Given the description of an element on the screen output the (x, y) to click on. 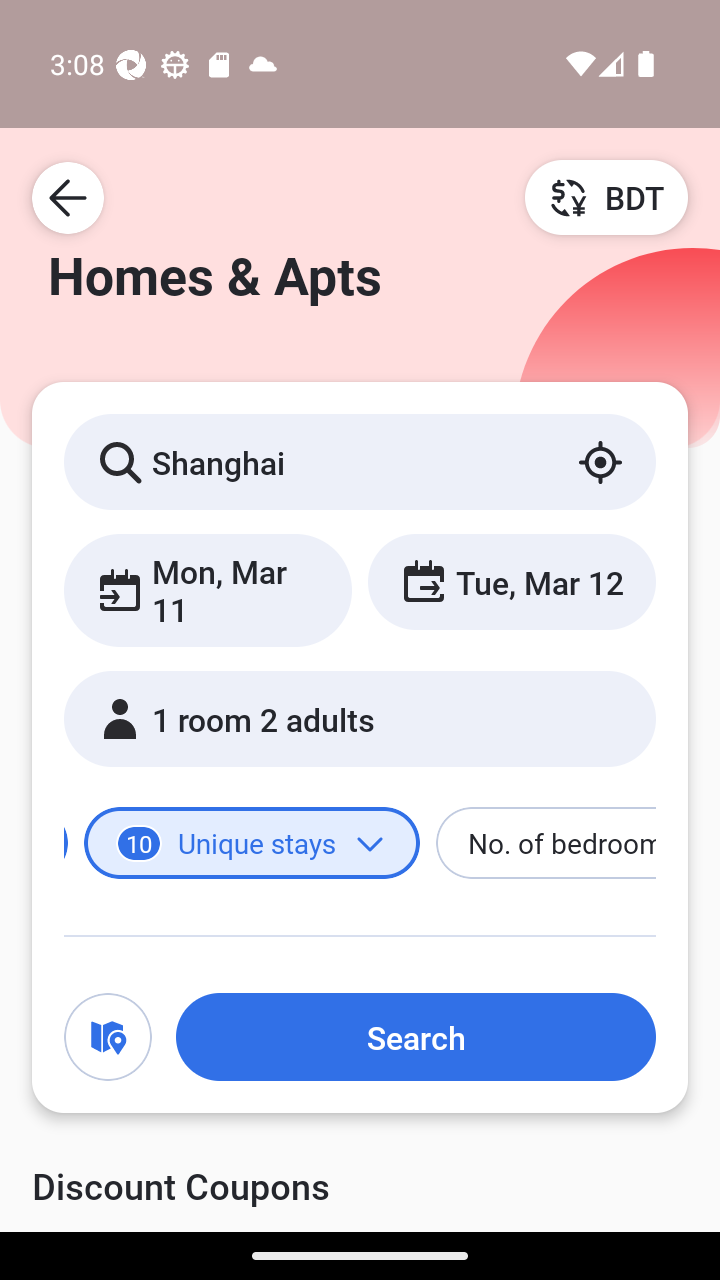
BDT (606, 197)
Shanghai (359, 461)
Mon, Mar 11 (208, 589)
Tue, Mar 12 (511, 581)
1 room 2 adults (359, 718)
10 Unique stays (251, 842)
No. of bedrooms (545, 842)
Search (415, 1037)
